Given the description of an element on the screen output the (x, y) to click on. 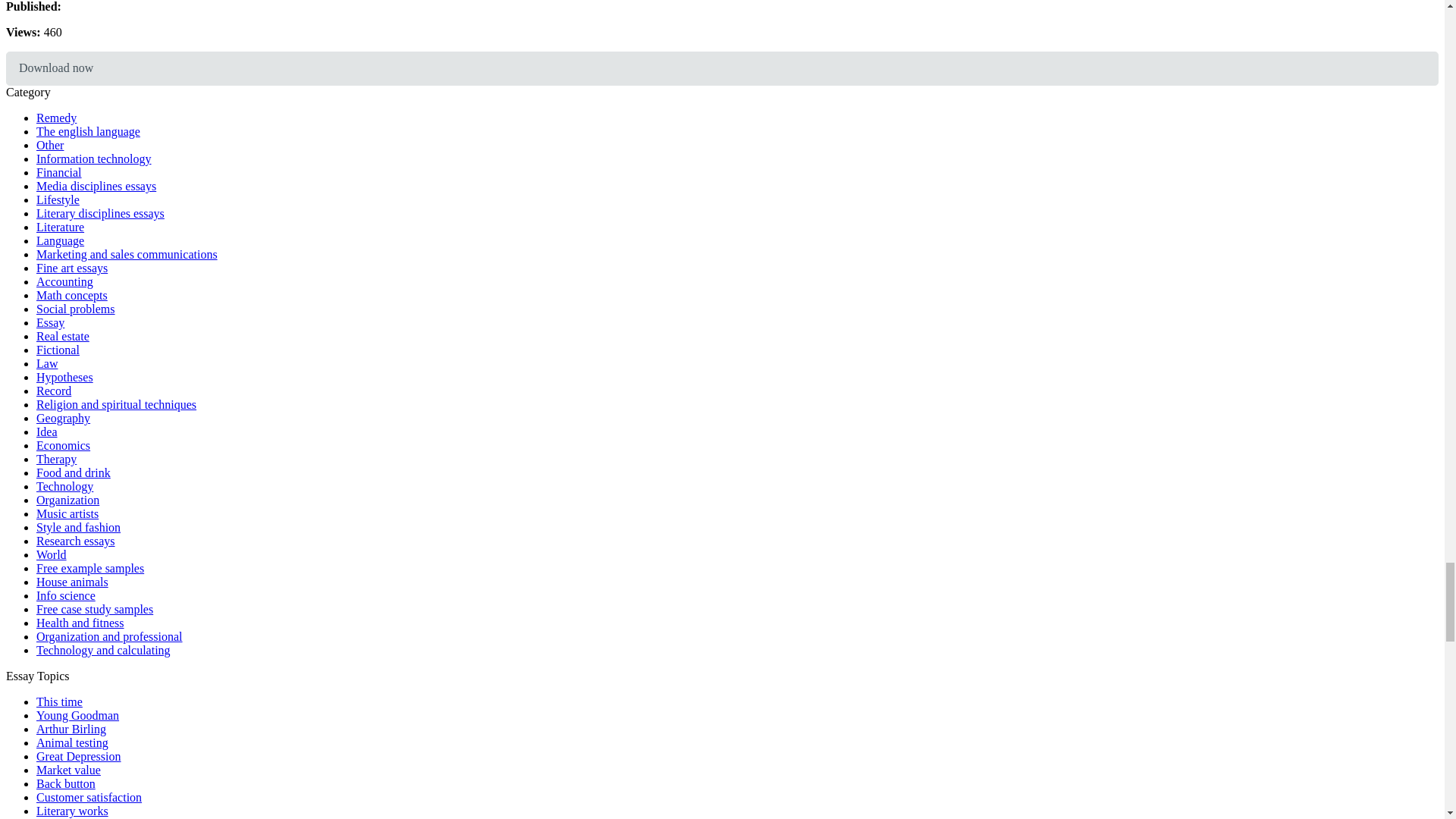
Information technology (93, 158)
Media disciplines essays (95, 185)
Other (50, 144)
Financial (58, 172)
Lifestyle (58, 199)
The english language (87, 131)
Remedy (56, 117)
